Given the description of an element on the screen output the (x, y) to click on. 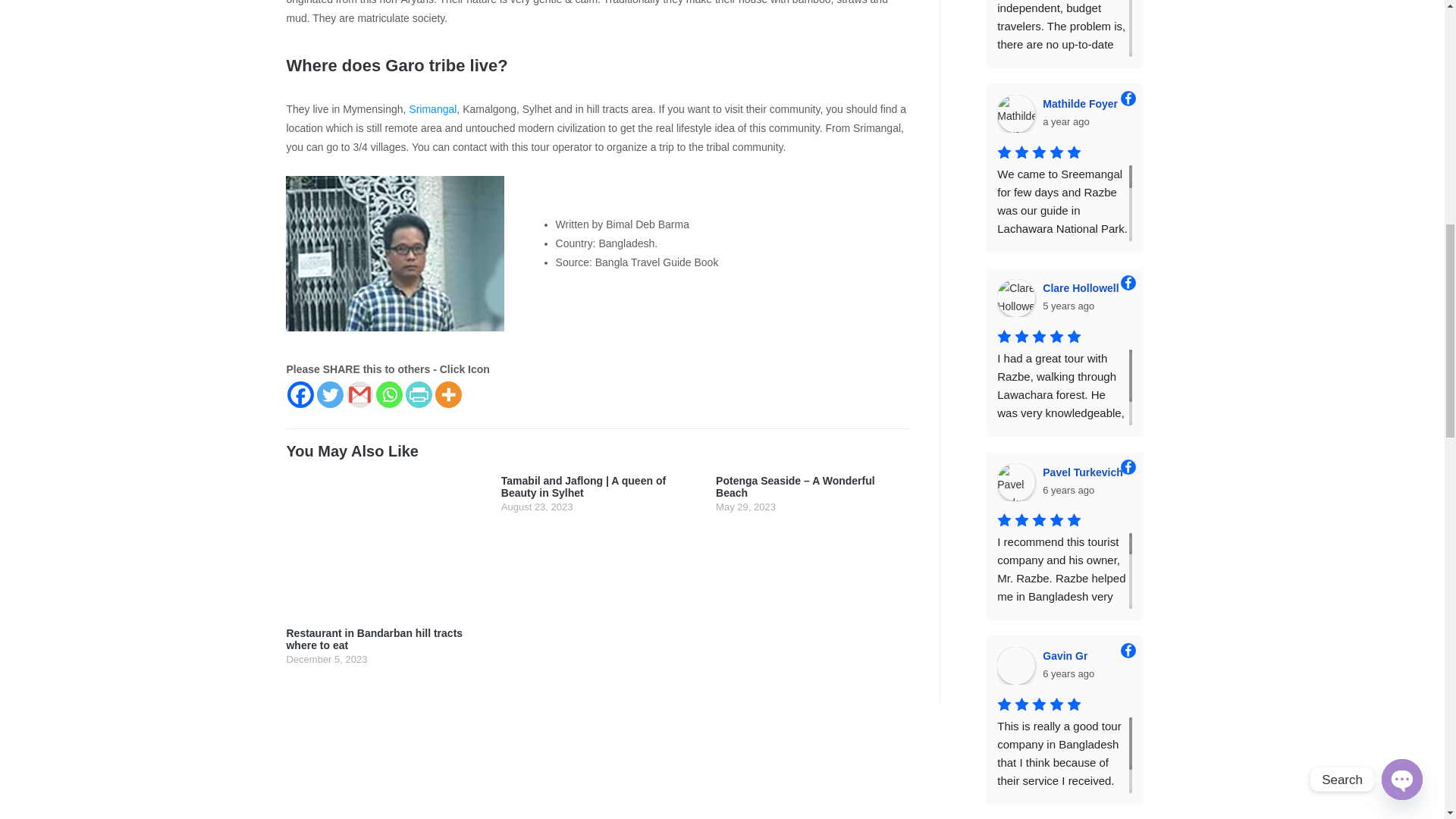
Srimangal (433, 109)
Clare Hollowell (1016, 297)
Restaurant in Bandarban hill tracts where to eat (382, 570)
More (448, 394)
Google Gmail (359, 394)
Whatsapp (389, 394)
Pavel Turkevich (1016, 482)
Facebook (300, 394)
PrintFriendly (419, 394)
Twitter (330, 394)
Mathilde Foyer (1016, 113)
